Given the description of an element on the screen output the (x, y) to click on. 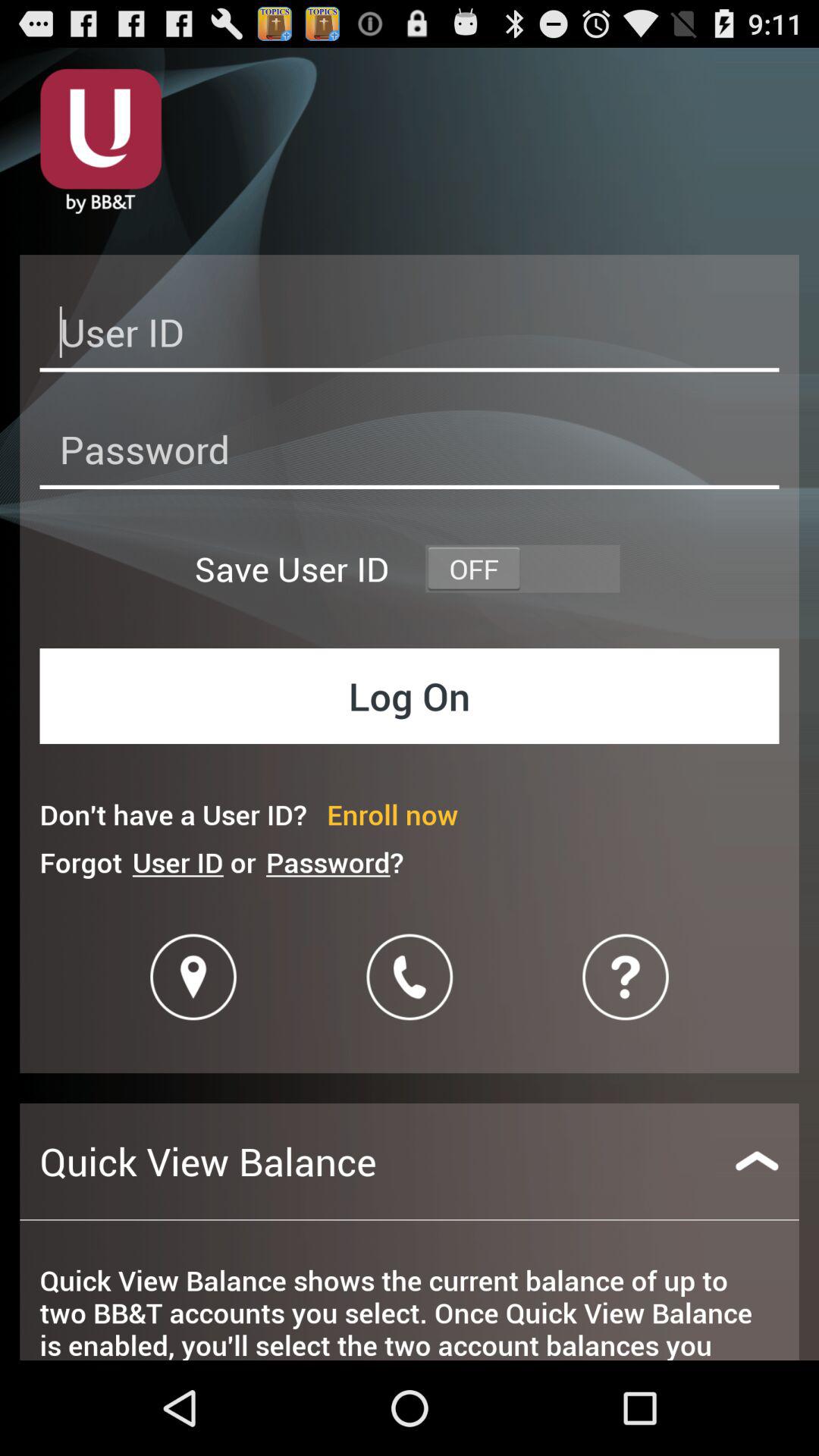
password (409, 454)
